Given the description of an element on the screen output the (x, y) to click on. 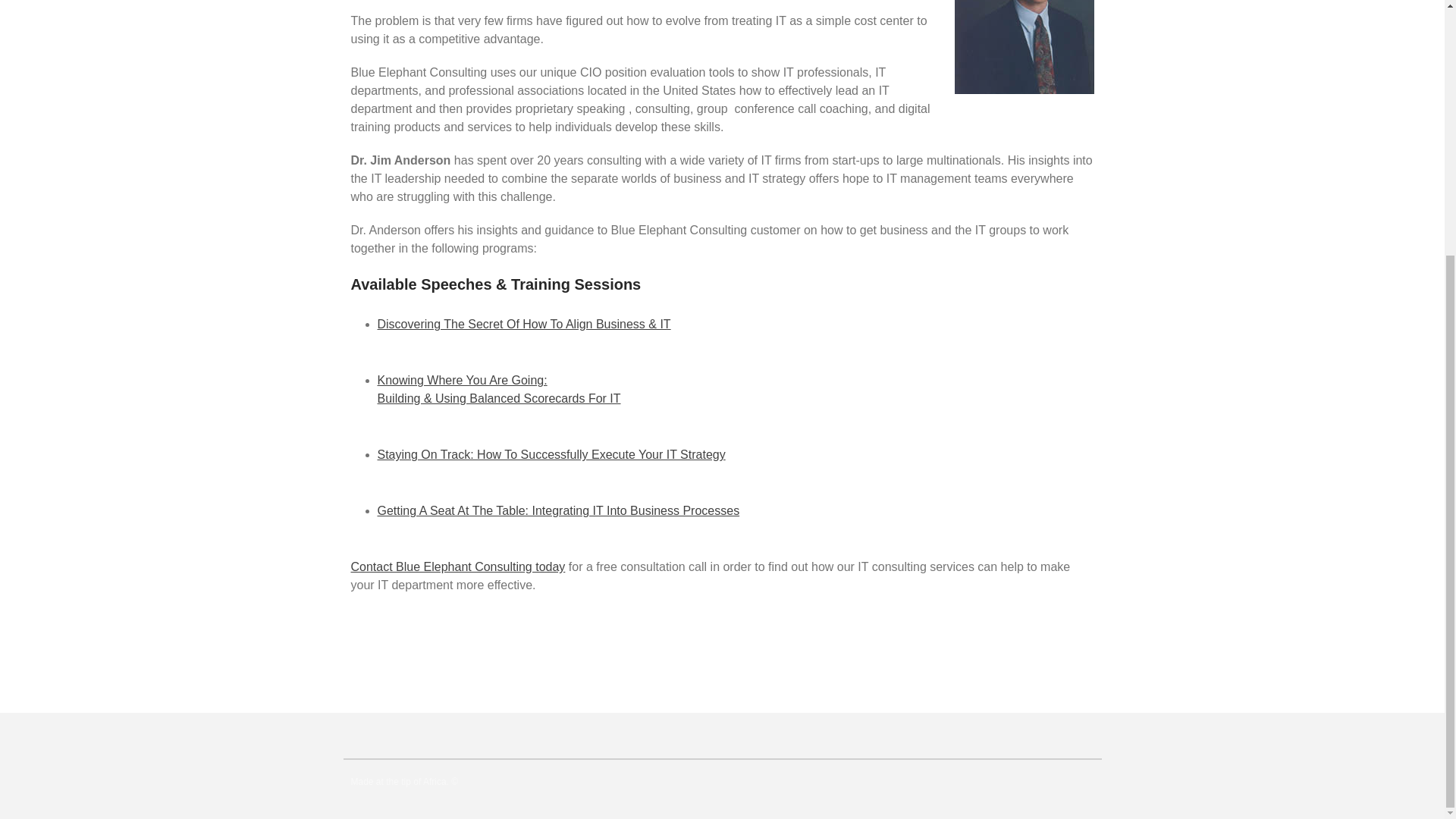
Here's how to contact Blue Elephant Consulting (457, 566)
